Given the description of an element on the screen output the (x, y) to click on. 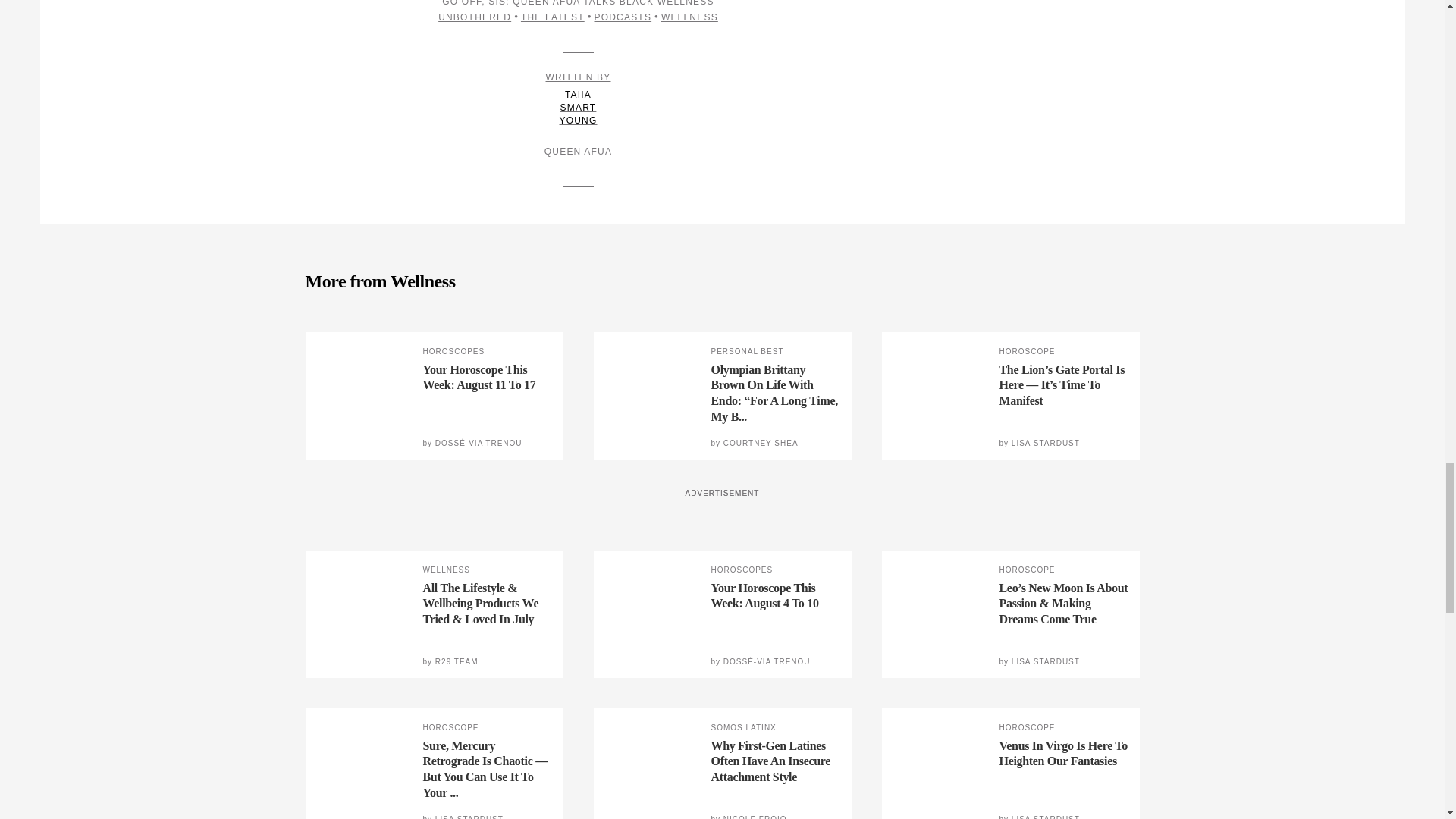
PODCASTS (622, 17)
THE LATEST (553, 17)
UNBOTHERED (474, 17)
